Given the description of an element on the screen output the (x, y) to click on. 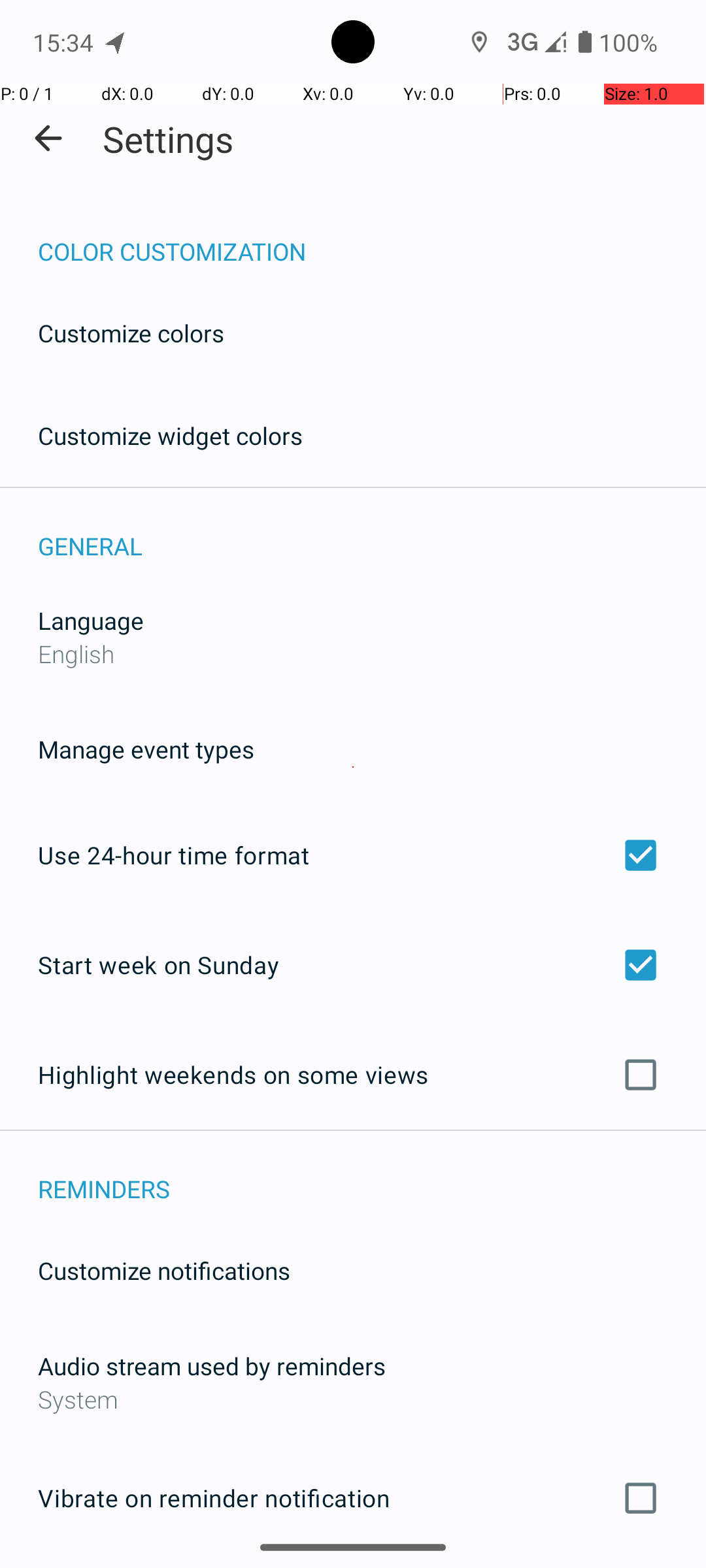
System Element type: android.widget.TextView (352, 1398)
